Given the description of an element on the screen output the (x, y) to click on. 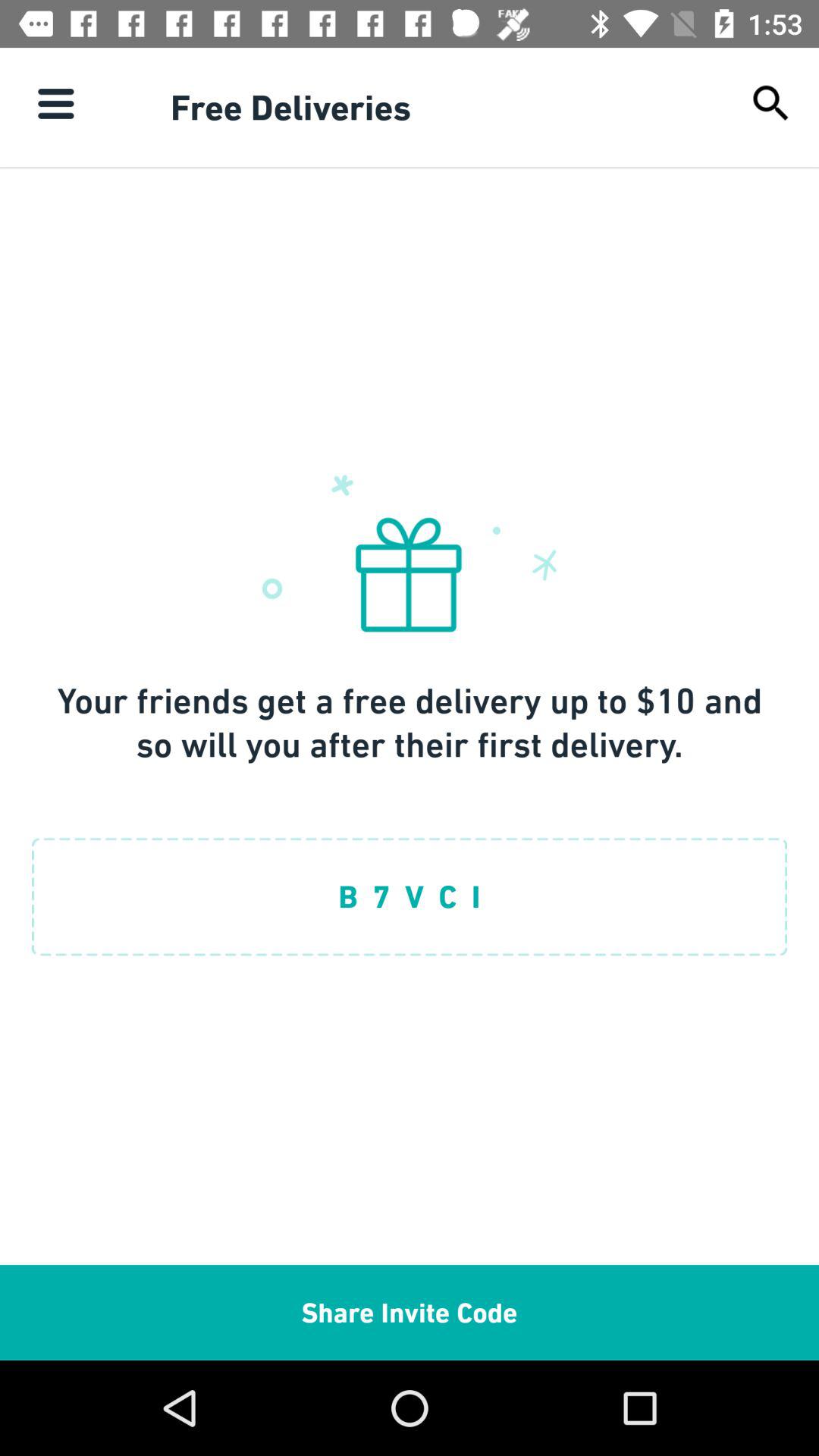
turn on icon above your friends get (55, 103)
